Given the description of an element on the screen output the (x, y) to click on. 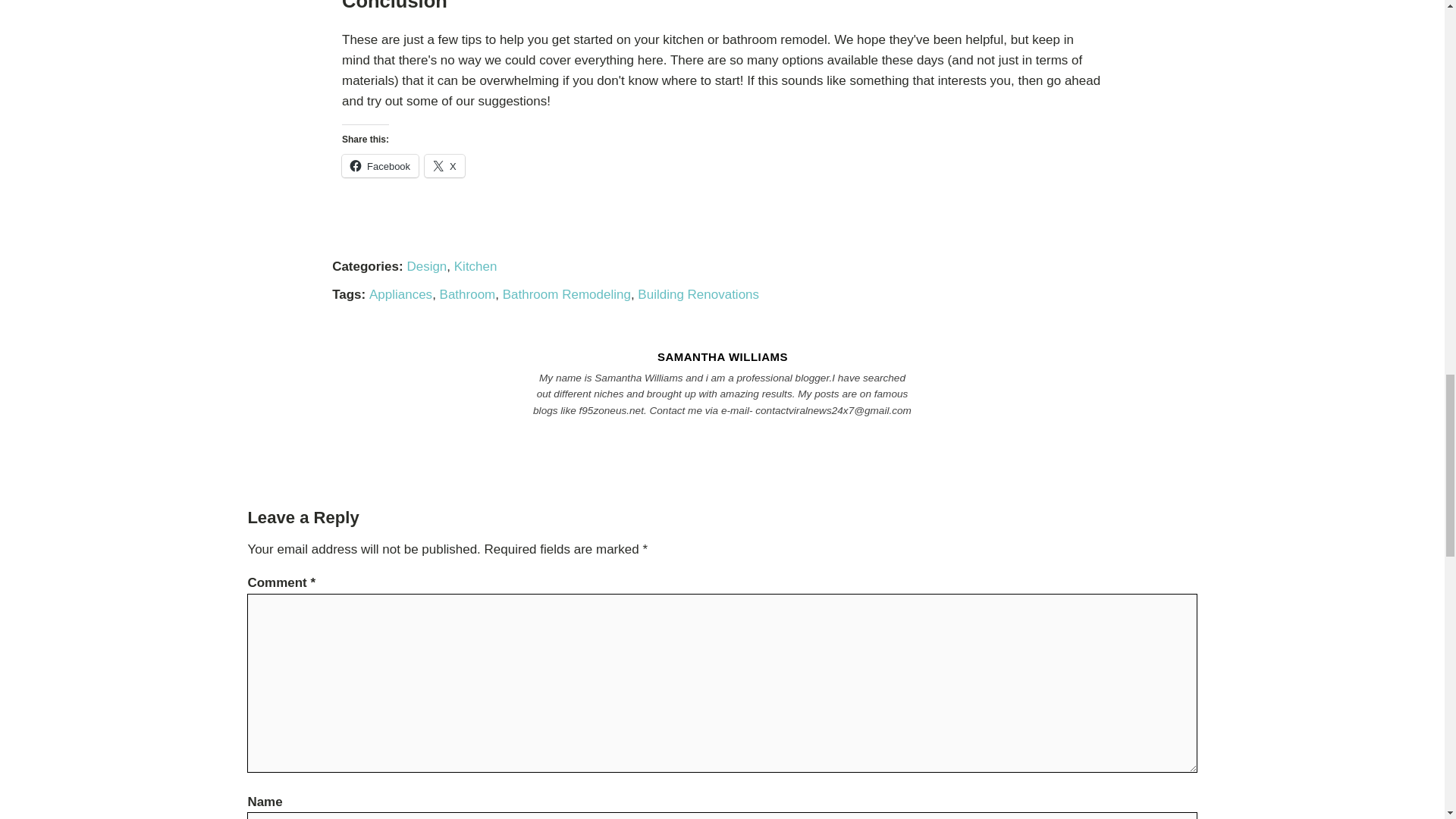
Click to share on X (444, 165)
Click to share on Facebook (380, 165)
